Given the description of an element on the screen output the (x, y) to click on. 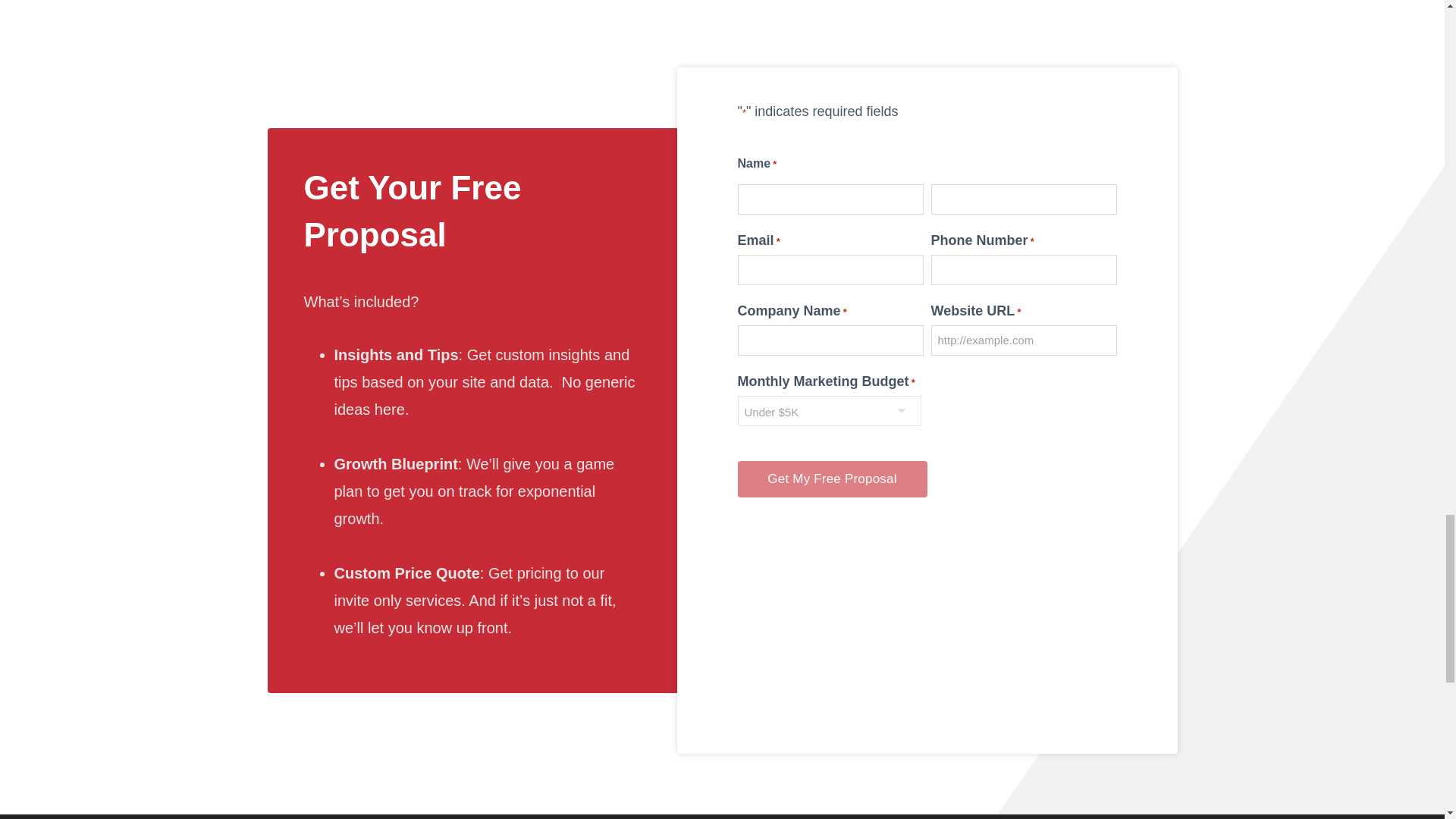
Get My Free Proposal (831, 479)
